Given the description of an element on the screen output the (x, y) to click on. 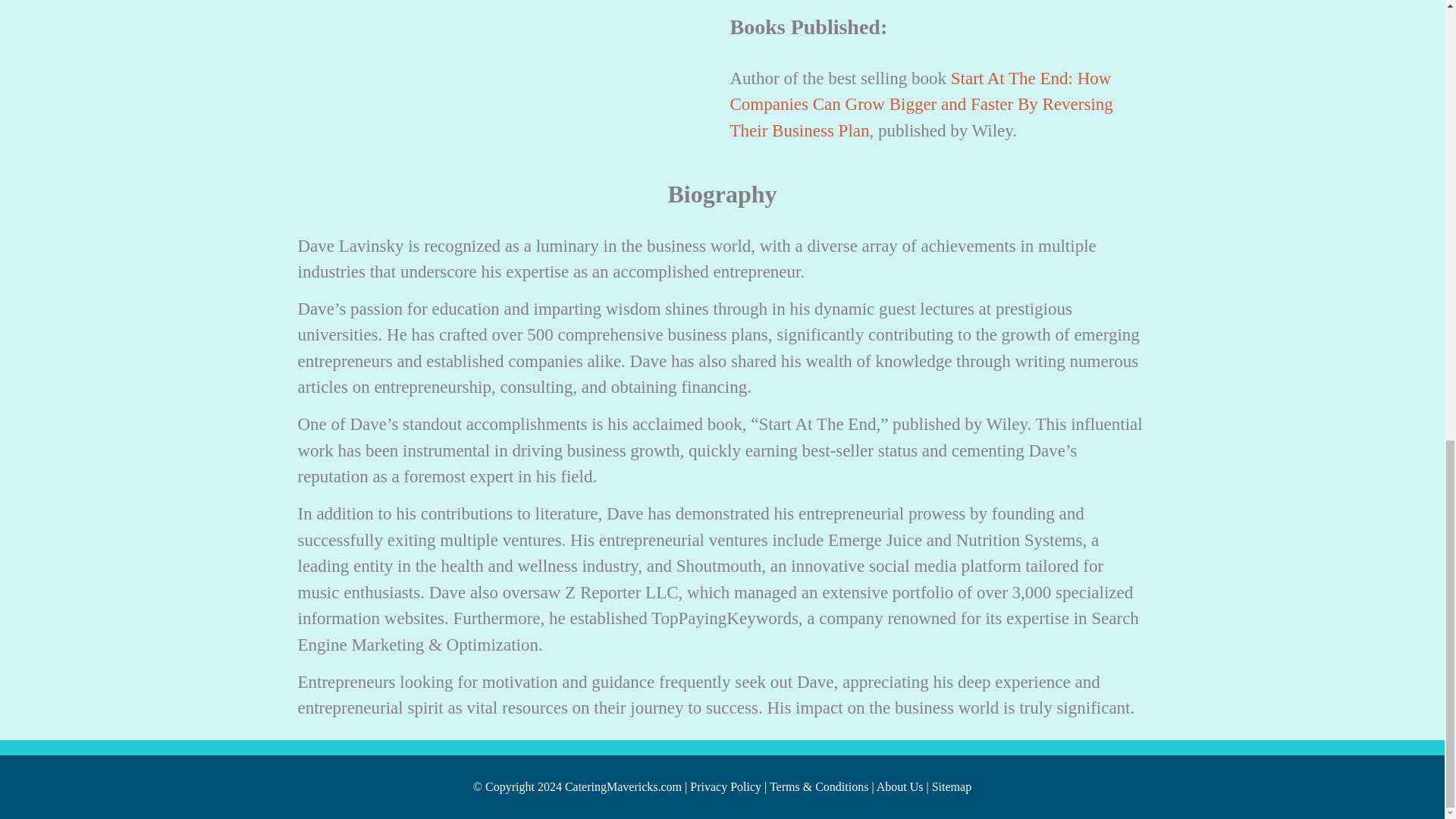
About Us (899, 786)
Sitemap (951, 786)
Privacy Policy (725, 786)
